Given the description of an element on the screen output the (x, y) to click on. 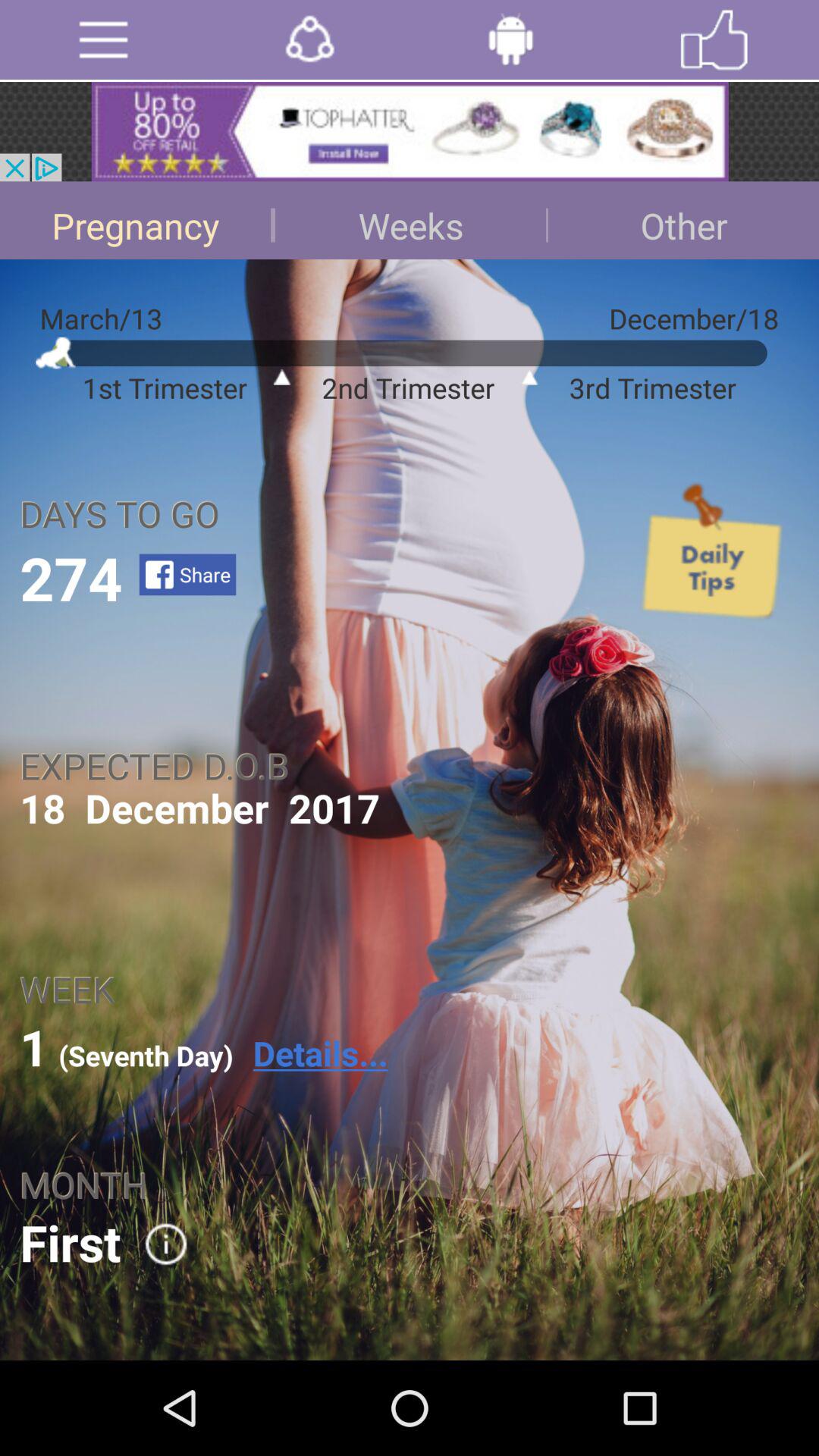
share the article (309, 39)
